Given the description of an element on the screen output the (x, y) to click on. 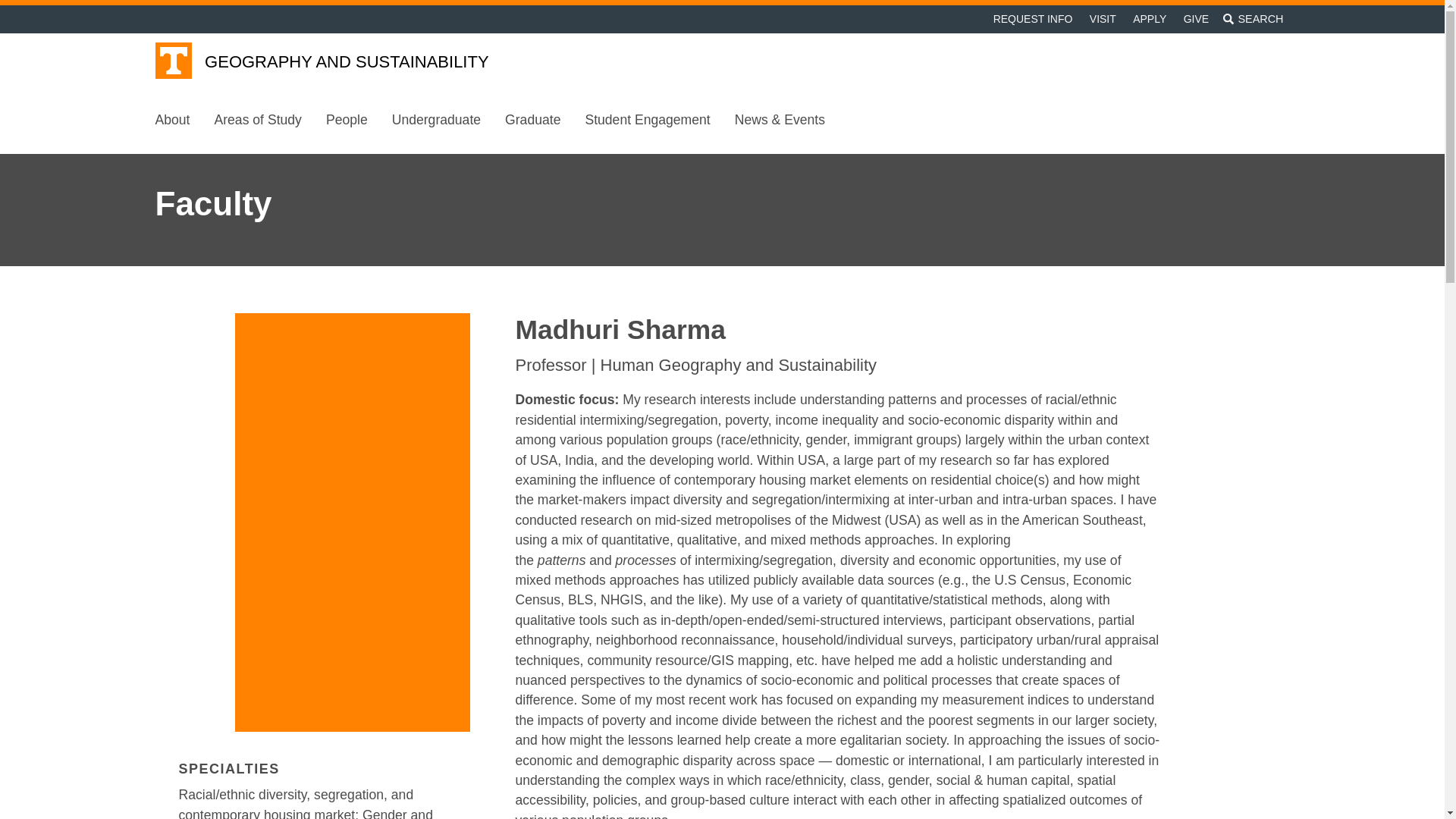
Areas of Study (257, 119)
GIVE (1195, 18)
GEOGRAPHY AND SUSTAINABILITY (346, 62)
VISIT (1102, 18)
SEARCH (1252, 18)
APPLY (1149, 18)
REQUEST INFO (1032, 18)
People (347, 119)
